Given the description of an element on the screen output the (x, y) to click on. 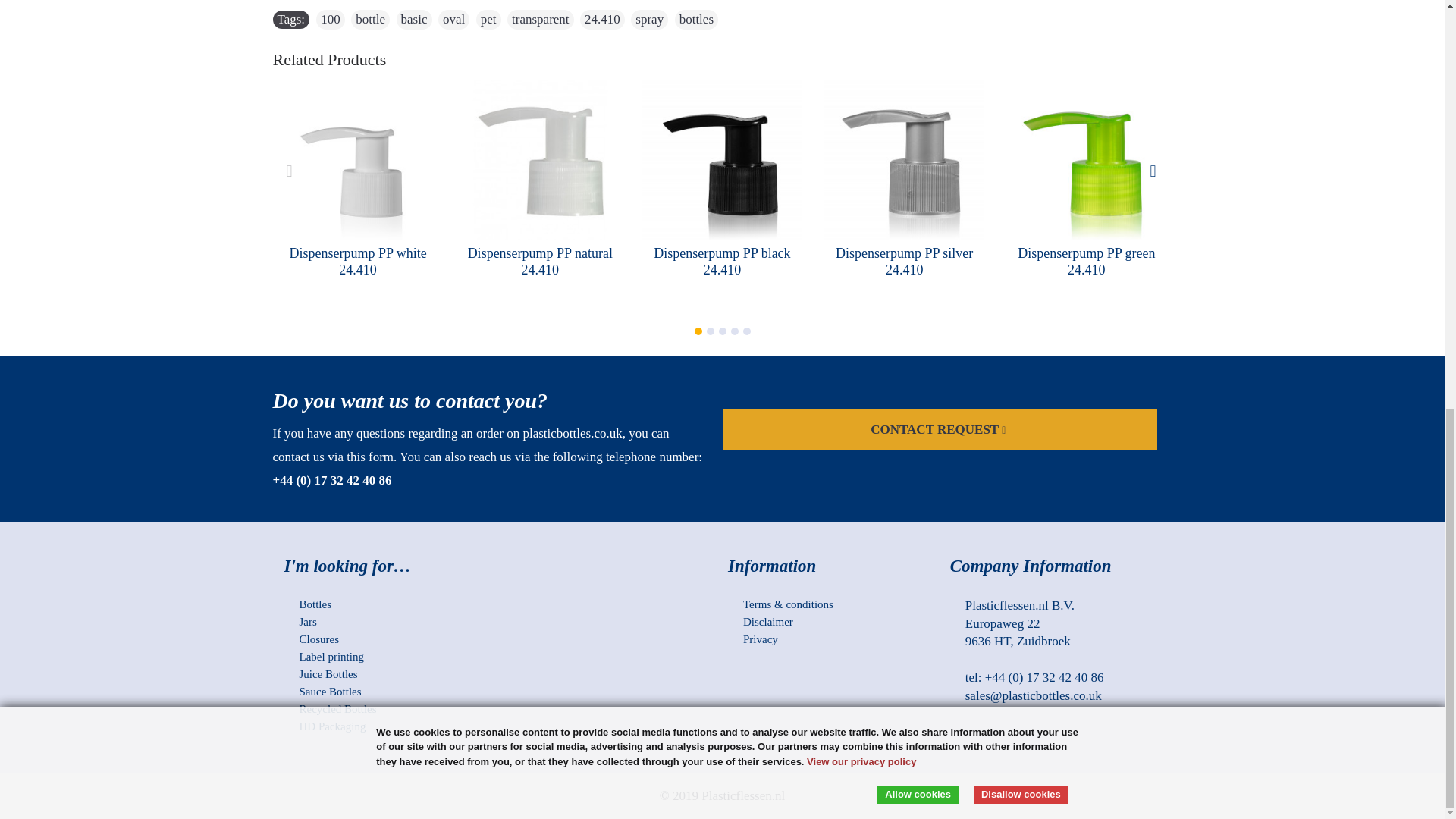
100 (330, 19)
bottle (370, 19)
Dispenserpump PP natural 24.410 (540, 160)
pet (488, 19)
24.410 (601, 19)
transparent (539, 19)
Dispenserpump PP green 24.410 (1086, 160)
Dispenserpump PP silver 24.410 (904, 160)
spray (649, 19)
Dispenserpump PP white 24.410 (358, 160)
